Given the description of an element on the screen output the (x, y) to click on. 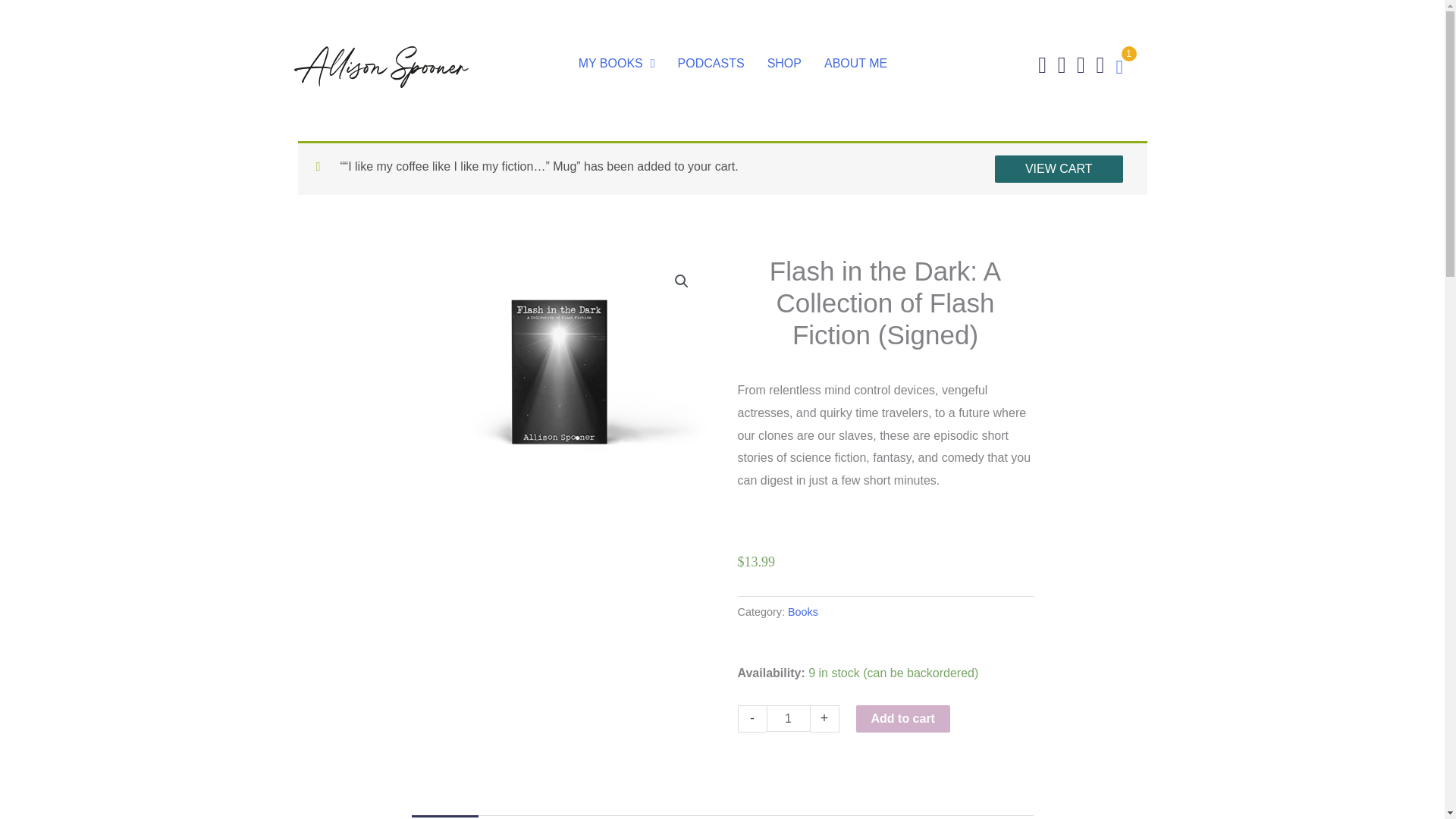
Flash in The Dark (558, 366)
1 (787, 718)
aliison-logo (381, 66)
ABOUT ME (855, 62)
SHOP (784, 62)
MY BOOKS (616, 62)
PODCASTS (710, 62)
